Given the description of an element on the screen output the (x, y) to click on. 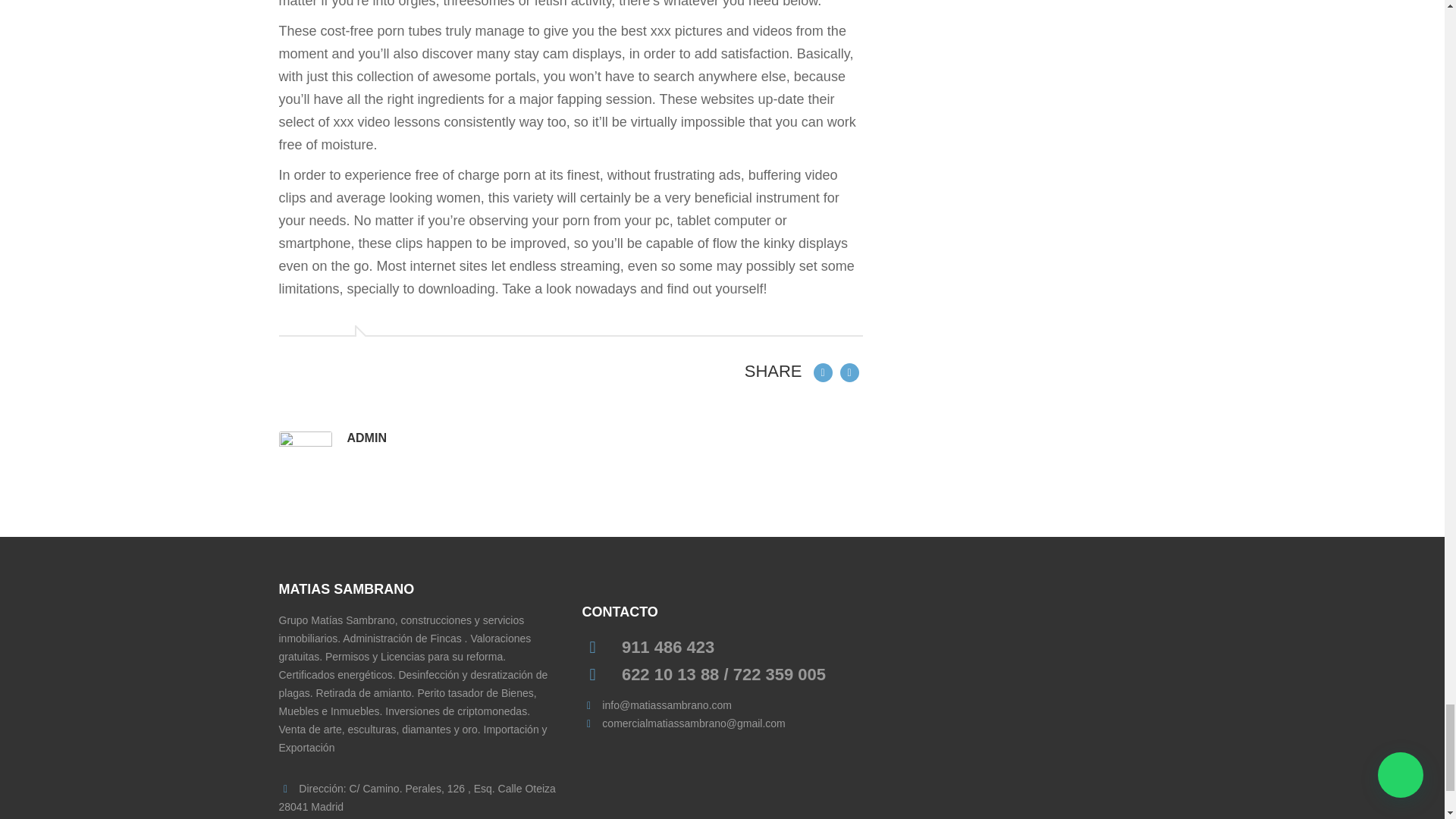
Tweet this! (848, 371)
Share on Facebook. (822, 371)
